Given the description of an element on the screen output the (x, y) to click on. 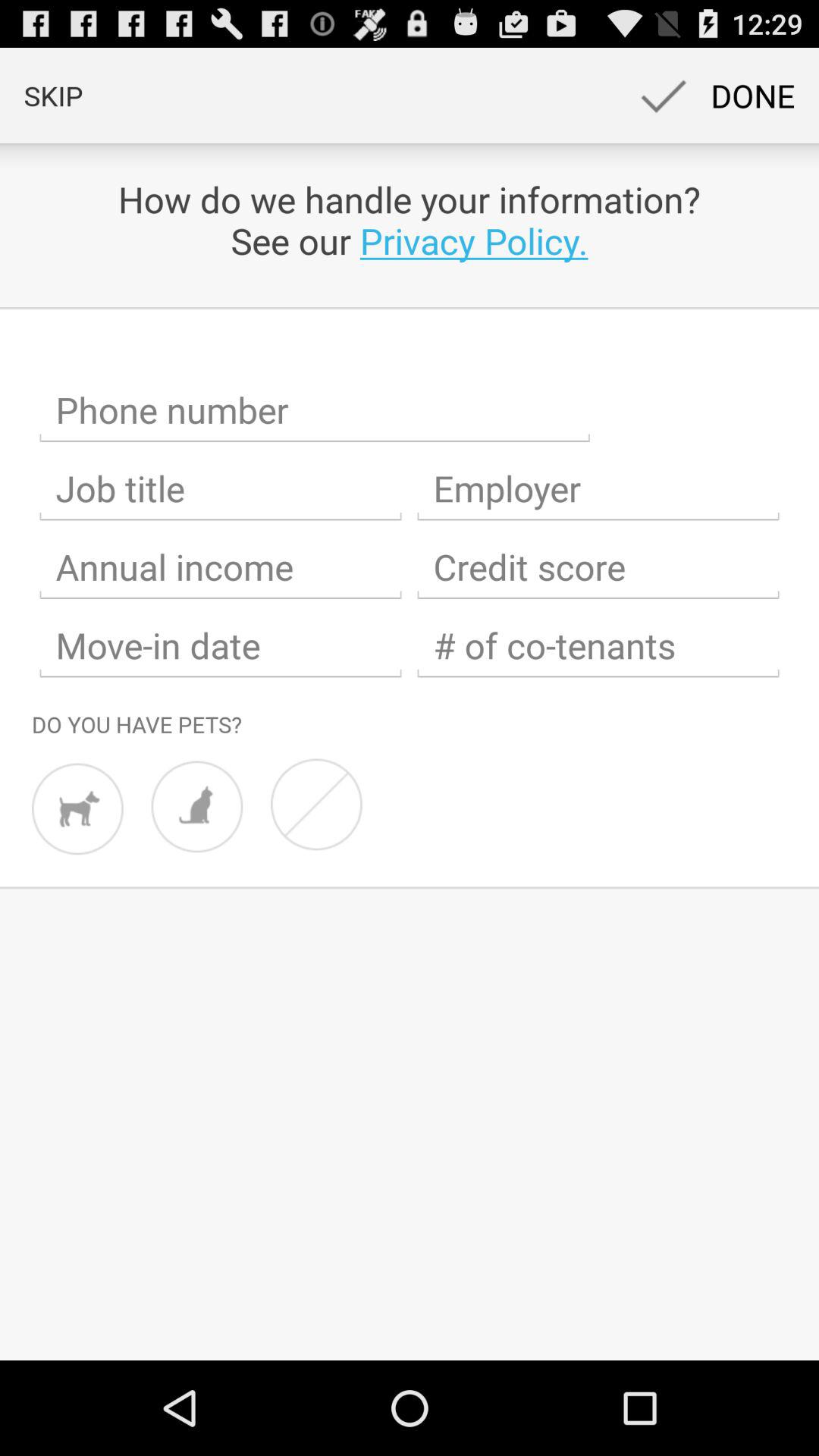
share the article (314, 410)
